Given the description of an element on the screen output the (x, y) to click on. 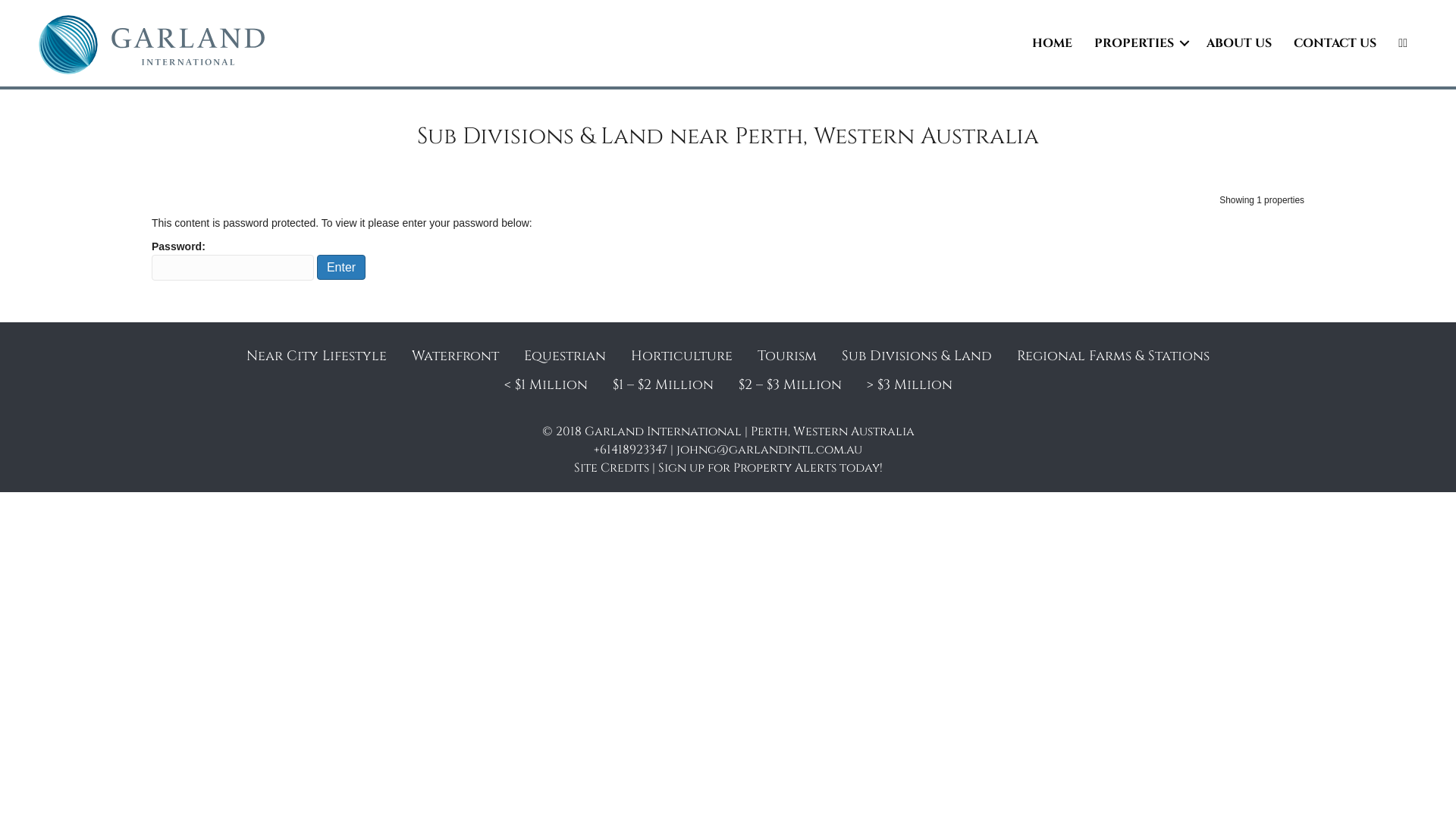
Near City Lifestyle Element type: text (316, 356)
CONTACT US Element type: text (1334, 42)
< $1 Million Element type: text (545, 384)
PROPERTIES Element type: text (1139, 42)
HOME Element type: text (1051, 42)
ABOUT US Element type: text (1238, 42)
Horticulture Element type: text (681, 356)
Tourism Element type: text (786, 356)
Enter Element type: text (340, 266)
+61418923347 Element type: text (630, 449)
Sign up for Property Alerts today! Element type: text (770, 467)
Sub Divisions & Land Element type: text (916, 356)
Waterfront Element type: text (455, 356)
Equestrian Element type: text (564, 356)
Regional Farms & Stations Element type: text (1112, 356)
Site Credits Element type: text (610, 467)
> $3 Million Element type: text (908, 384)
Garland International Logo Element type: hover (151, 45)
johng@garlandintl.com.au Element type: text (769, 449)
